Given the description of an element on the screen output the (x, y) to click on. 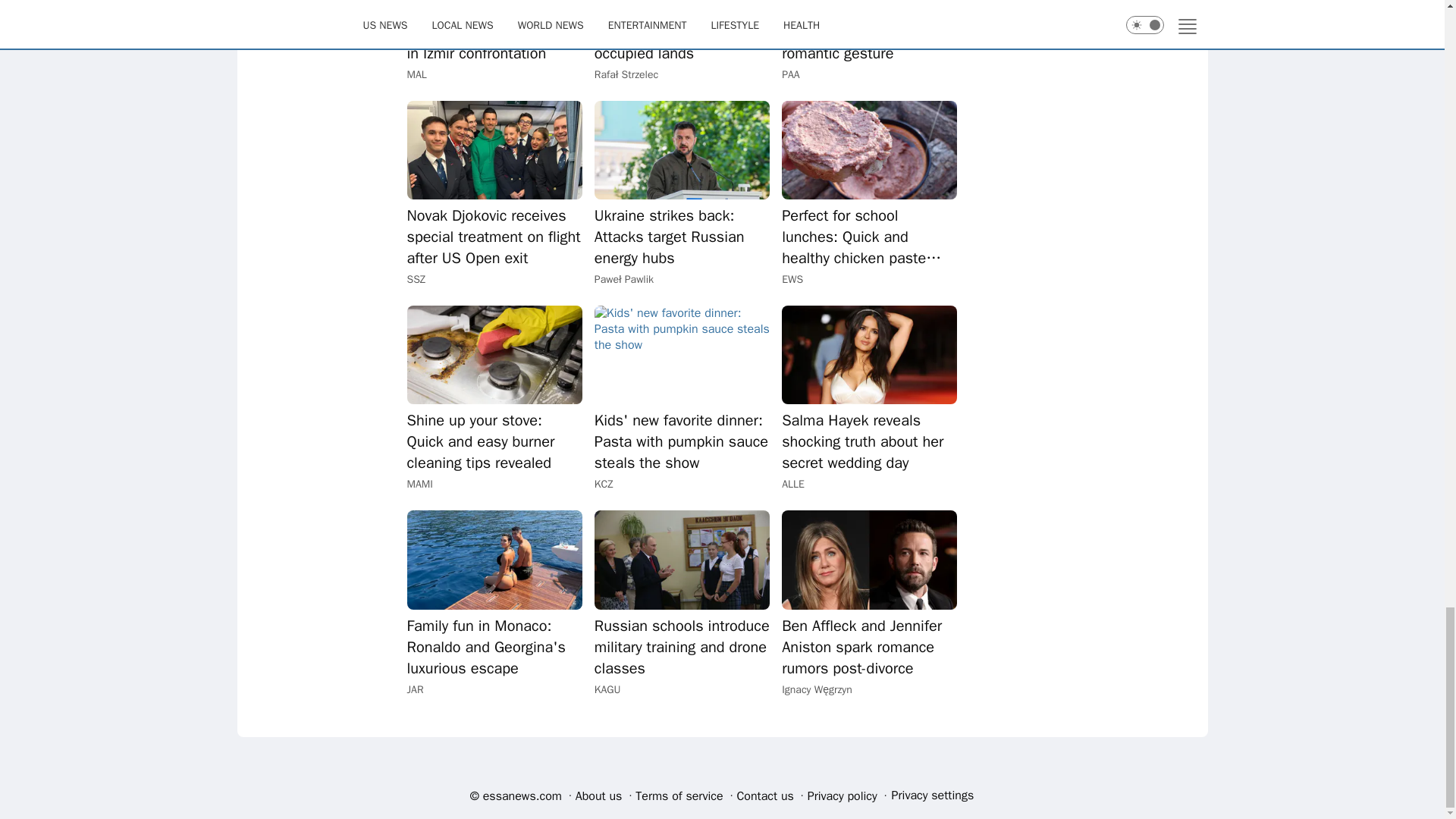
Richard Gere steals Venice spotlight with romantic gesture (868, 32)
Richard Gere steals Venice spotlight with romantic gesture (868, 32)
Ukraine strikes back: Attacks target Russian energy hubs (682, 149)
Ukraine strikes back: Attacks target Russian energy hubs (682, 237)
Ukraine strikes back: Attacks target Russian energy hubs (682, 237)
